Given the description of an element on the screen output the (x, y) to click on. 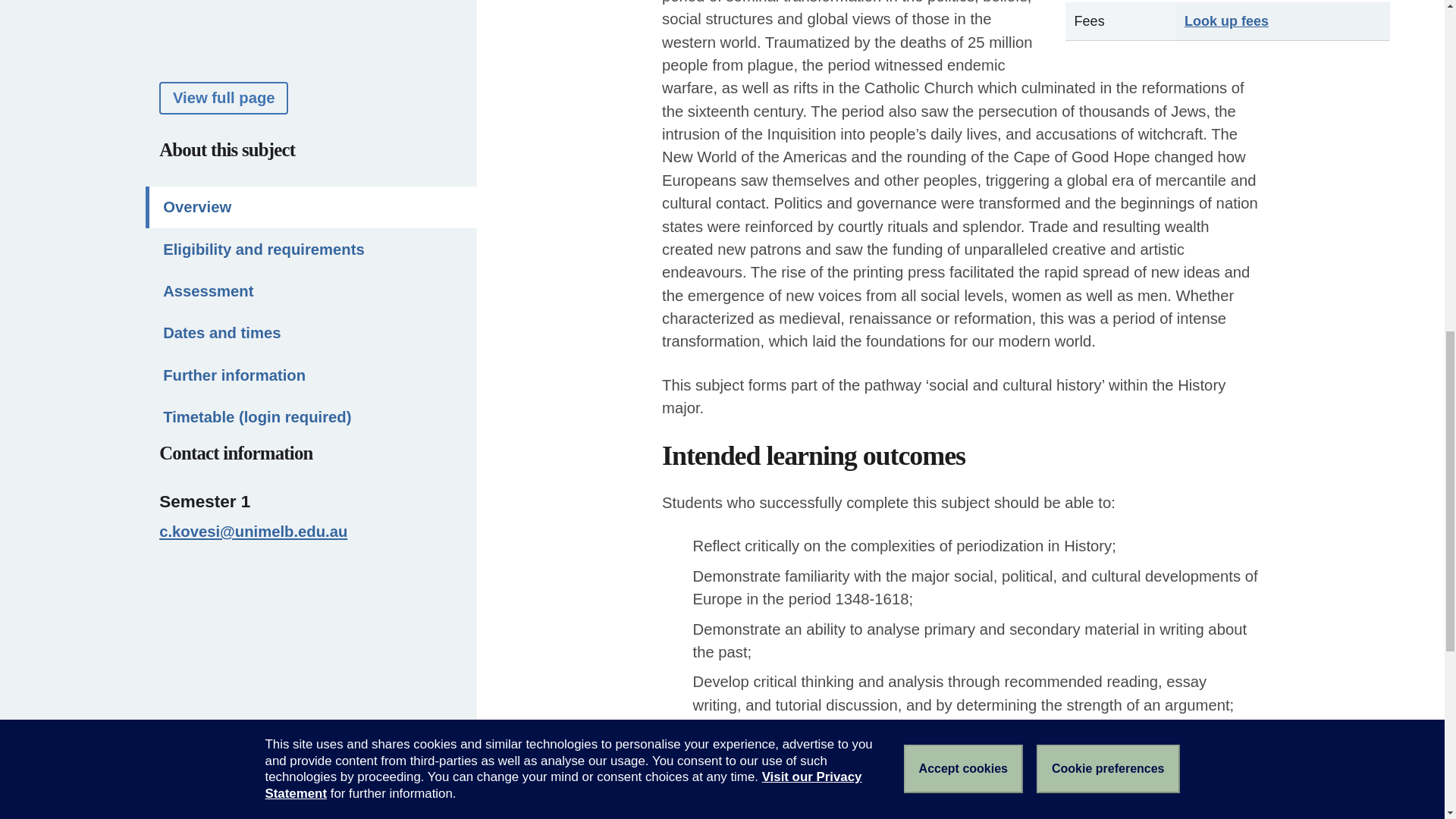
Eligibility and requirements (311, 77)
Further information (311, 203)
Assessment (311, 119)
Overview (311, 35)
Look up fees (1226, 20)
Dates and times (311, 161)
